Given the description of an element on the screen output the (x, y) to click on. 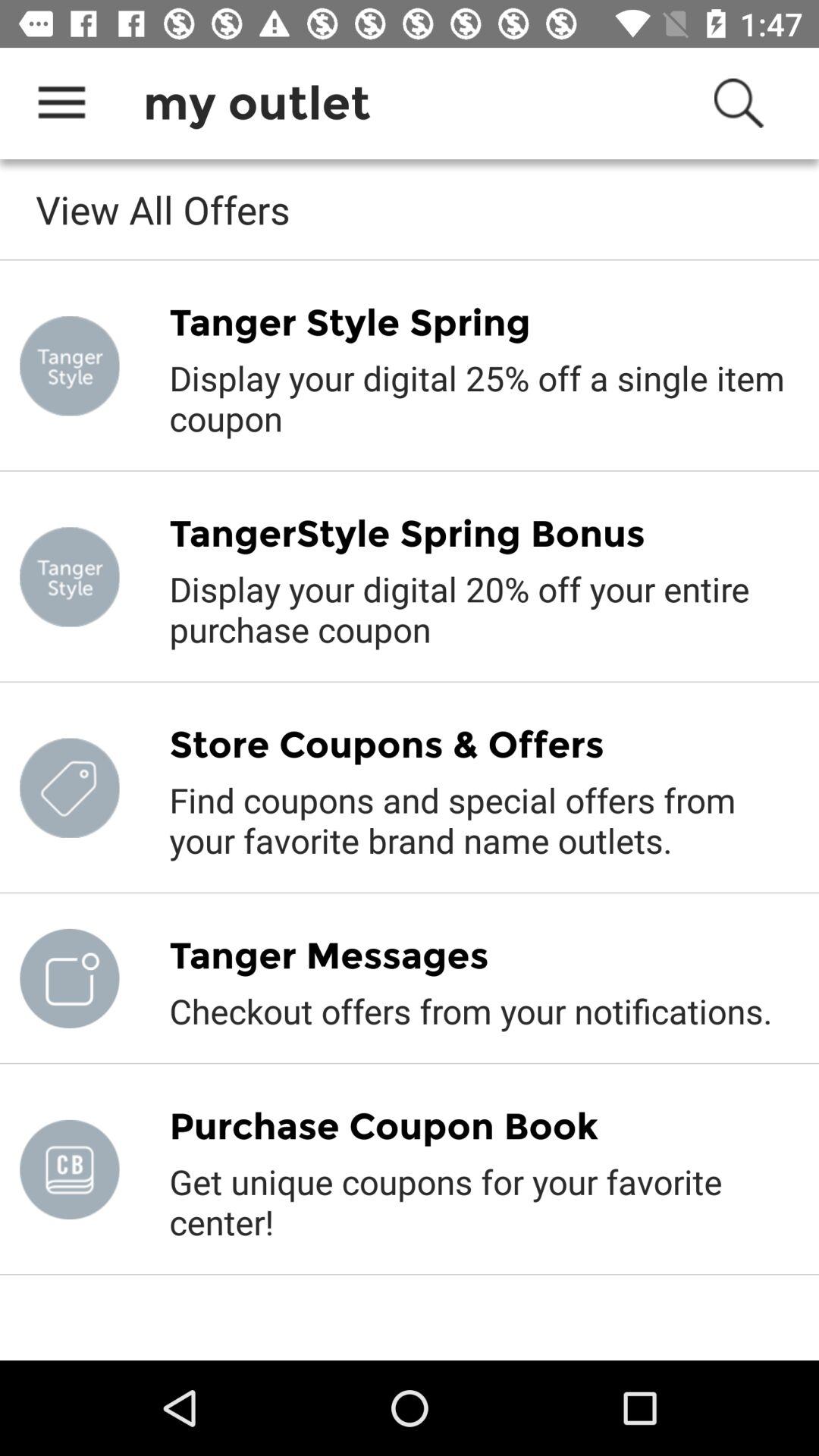
launch item next to the my outlet item (61, 103)
